Given the description of an element on the screen output the (x, y) to click on. 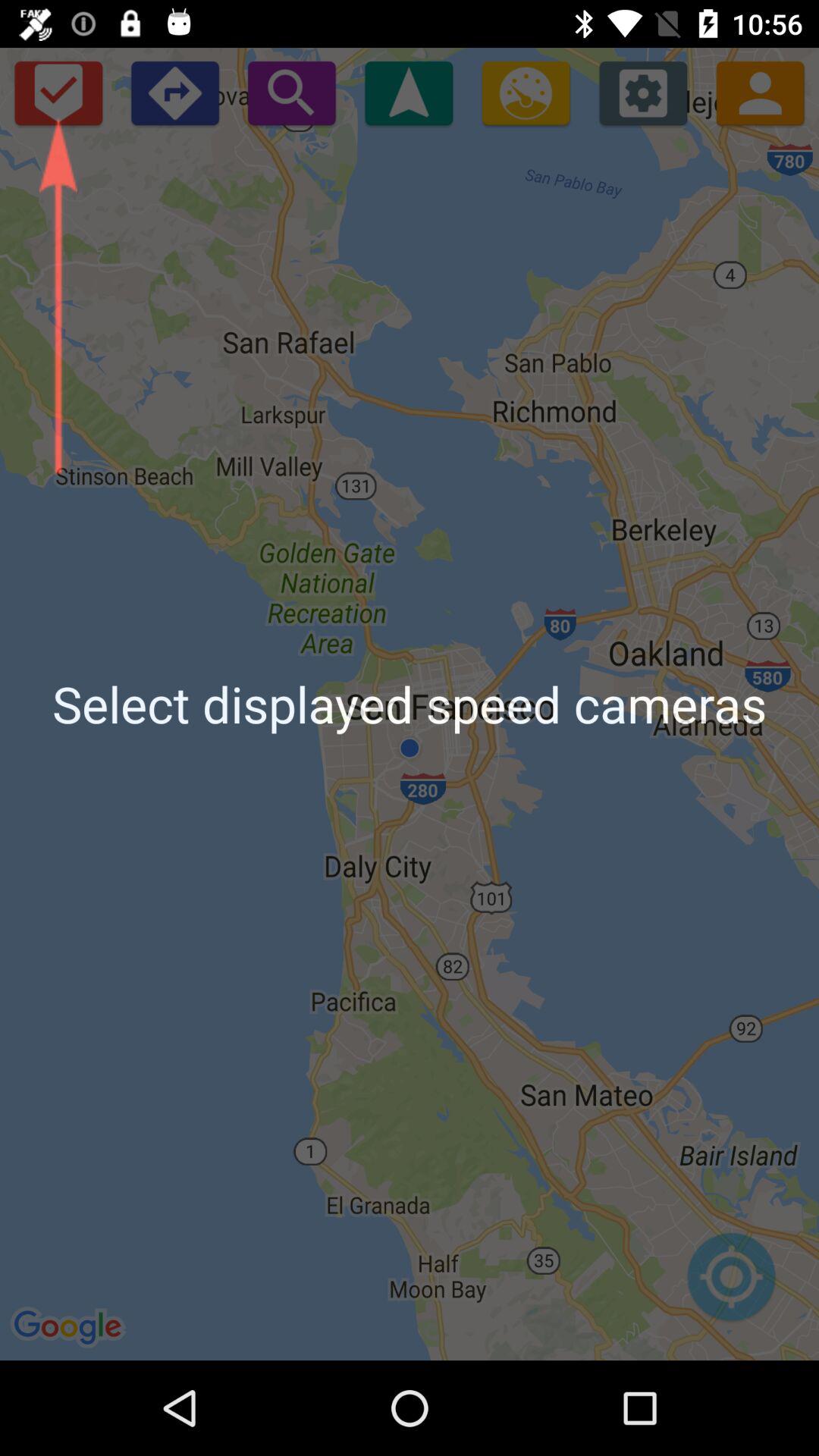
search (291, 92)
